Given the description of an element on the screen output the (x, y) to click on. 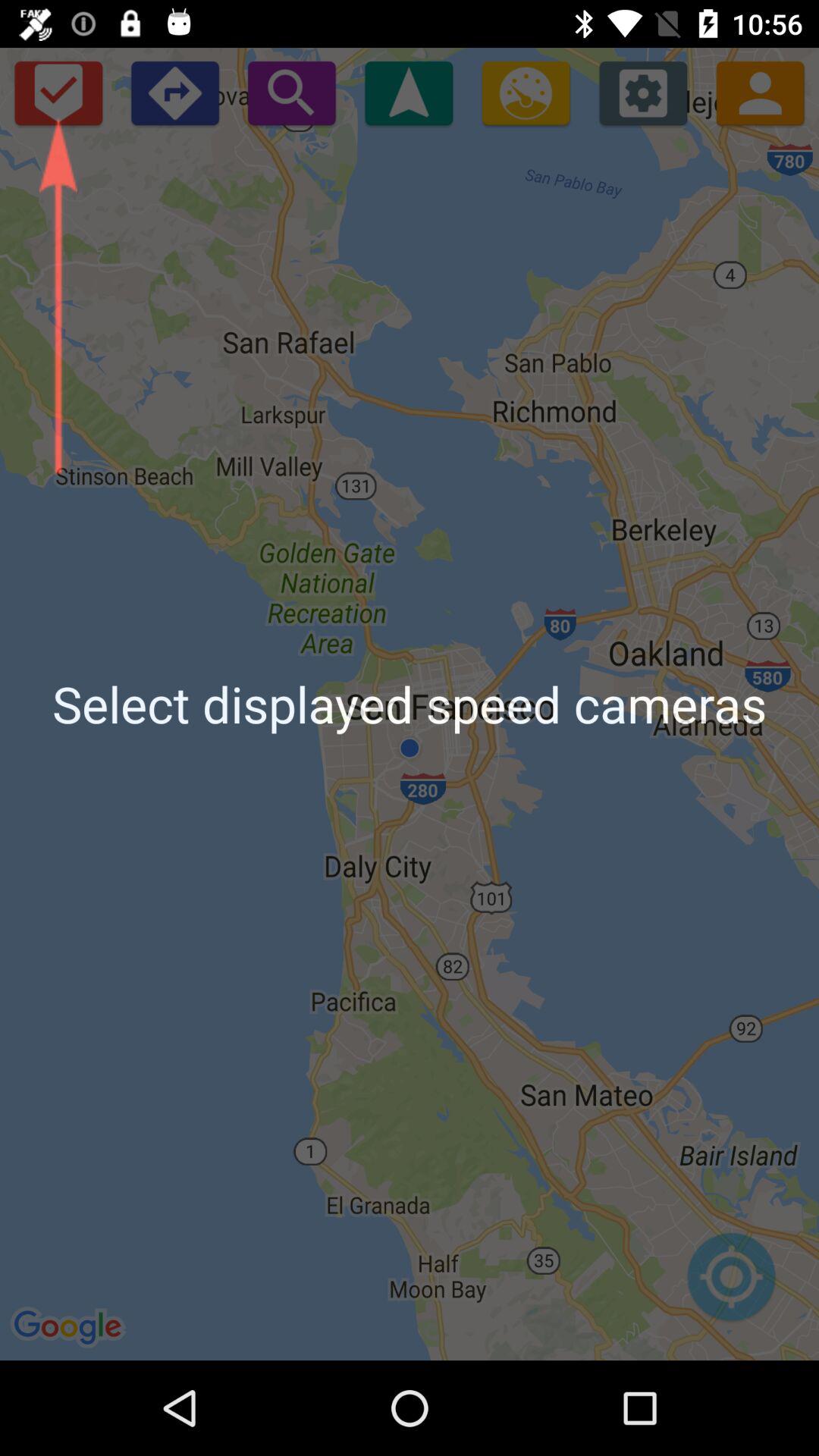
search (291, 92)
